Given the description of an element on the screen output the (x, y) to click on. 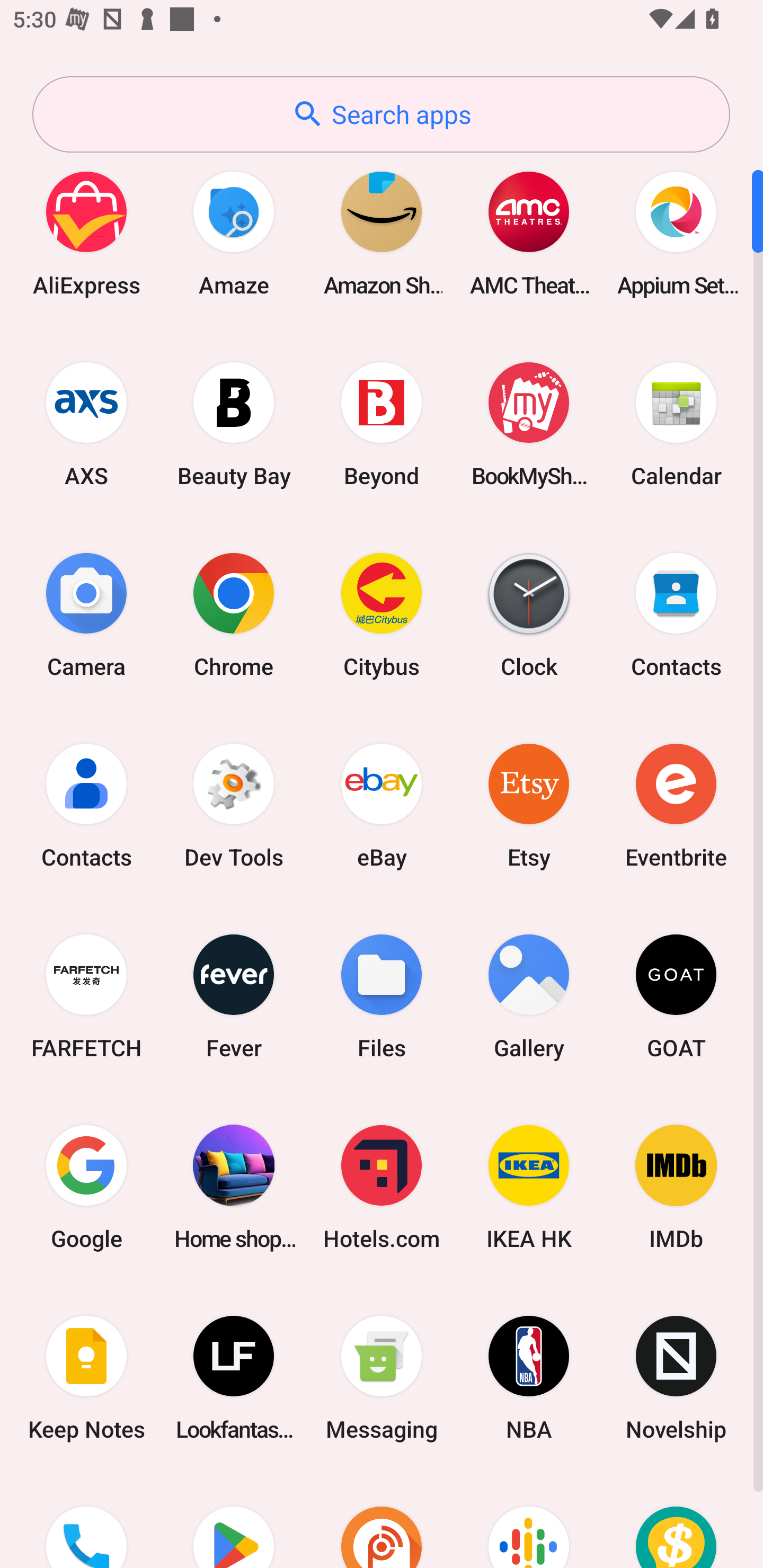
  Search apps (381, 114)
AliExpress (86, 233)
Amaze (233, 233)
Amazon Shopping (381, 233)
AMC Theatres (528, 233)
Appium Settings (676, 233)
AXS (86, 424)
Beauty Bay (233, 424)
Beyond (381, 424)
BookMyShow (528, 424)
Calendar (676, 424)
Camera (86, 614)
Chrome (233, 614)
Citybus (381, 614)
Clock (528, 614)
Contacts (676, 614)
Contacts (86, 805)
Dev Tools (233, 805)
eBay (381, 805)
Etsy (528, 805)
Eventbrite (676, 805)
FARFETCH (86, 996)
Fever (233, 996)
Files (381, 996)
Gallery (528, 996)
GOAT (676, 996)
Google (86, 1186)
Home shopping (233, 1186)
Hotels.com (381, 1186)
IKEA HK (528, 1186)
IMDb (676, 1186)
Keep Notes (86, 1377)
Lookfantastic (233, 1377)
Messaging (381, 1377)
NBA (528, 1377)
Novelship (676, 1377)
Phone (86, 1520)
Play Store (233, 1520)
Podcast Addict (381, 1520)
Podcasts (528, 1520)
Price (676, 1520)
